Given the description of an element on the screen output the (x, y) to click on. 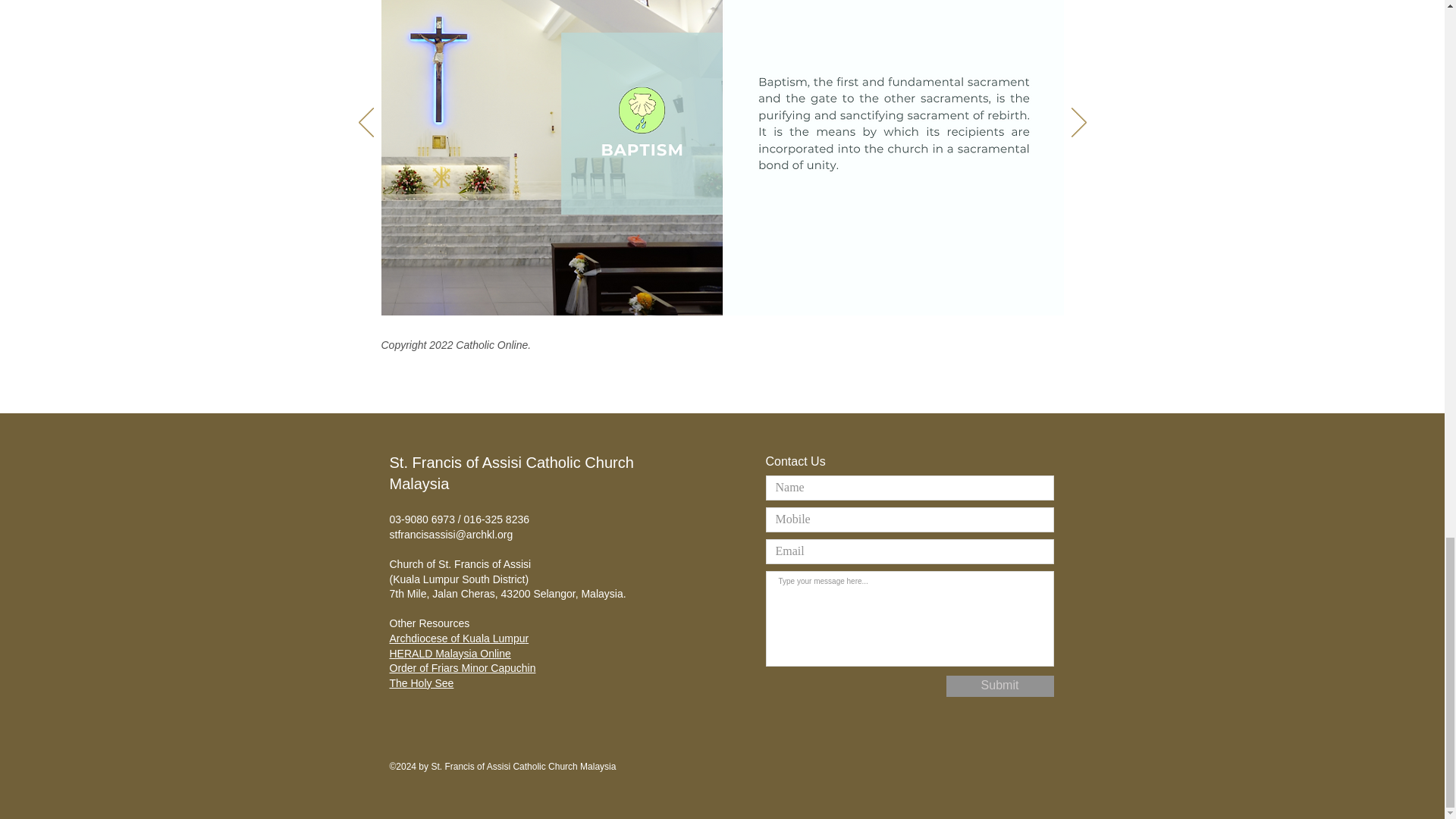
Order of Friars Minor Capuchin (462, 667)
Submit (1000, 685)
HERALD Malaysia Online (450, 653)
Archdiocese of Kuala Lumpur (459, 638)
The Holy See (422, 683)
